Given the description of an element on the screen output the (x, y) to click on. 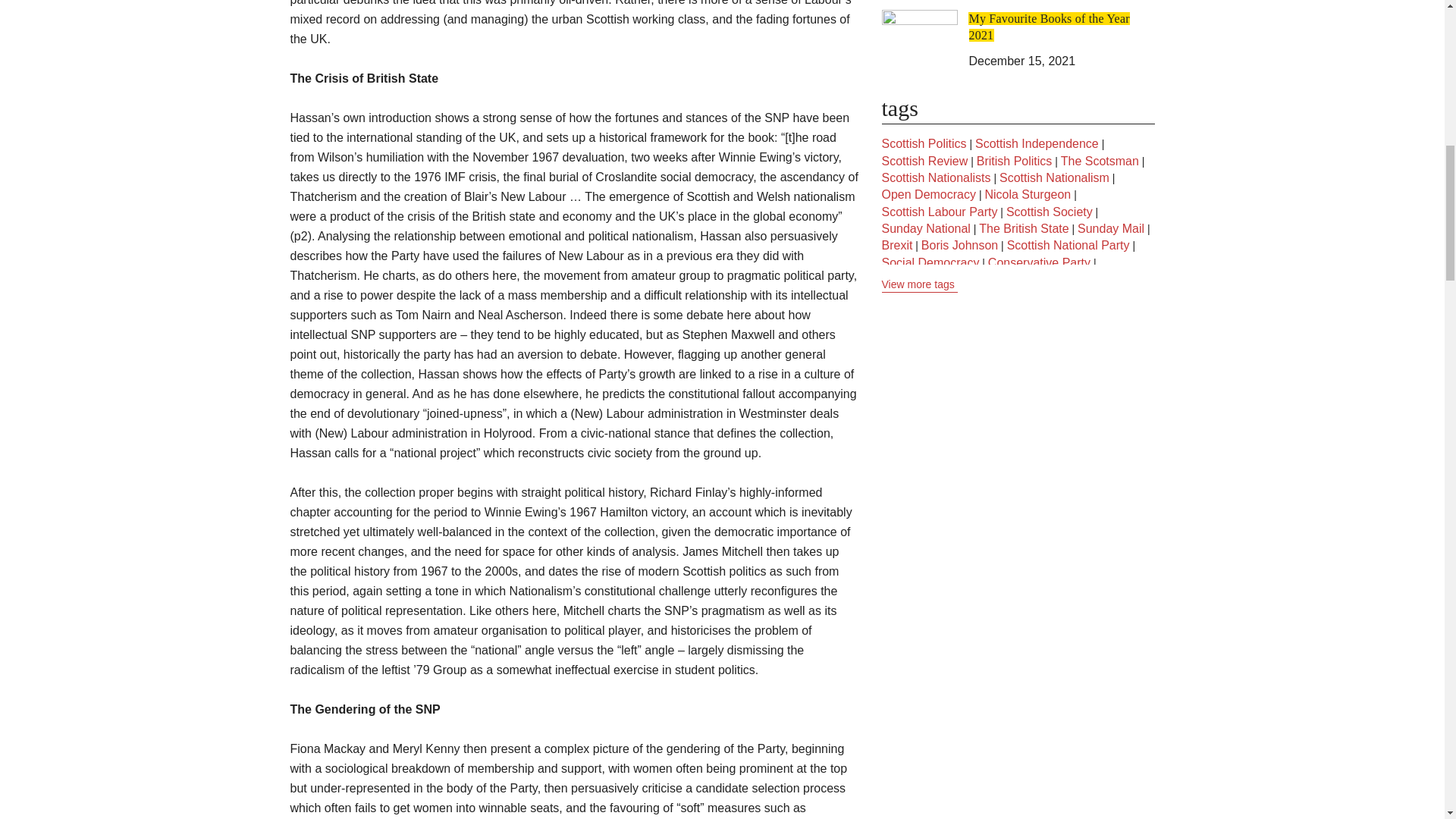
Scottish Nationalists (935, 177)
Scottish Independence (1037, 143)
My Favourite Books of the Year 2021 (1049, 27)
Scottish Politics (923, 143)
Scottish Review (924, 161)
The Scotsman (1099, 161)
Scottish Nationalism (1053, 177)
British Politics (1014, 161)
